Given the description of an element on the screen output the (x, y) to click on. 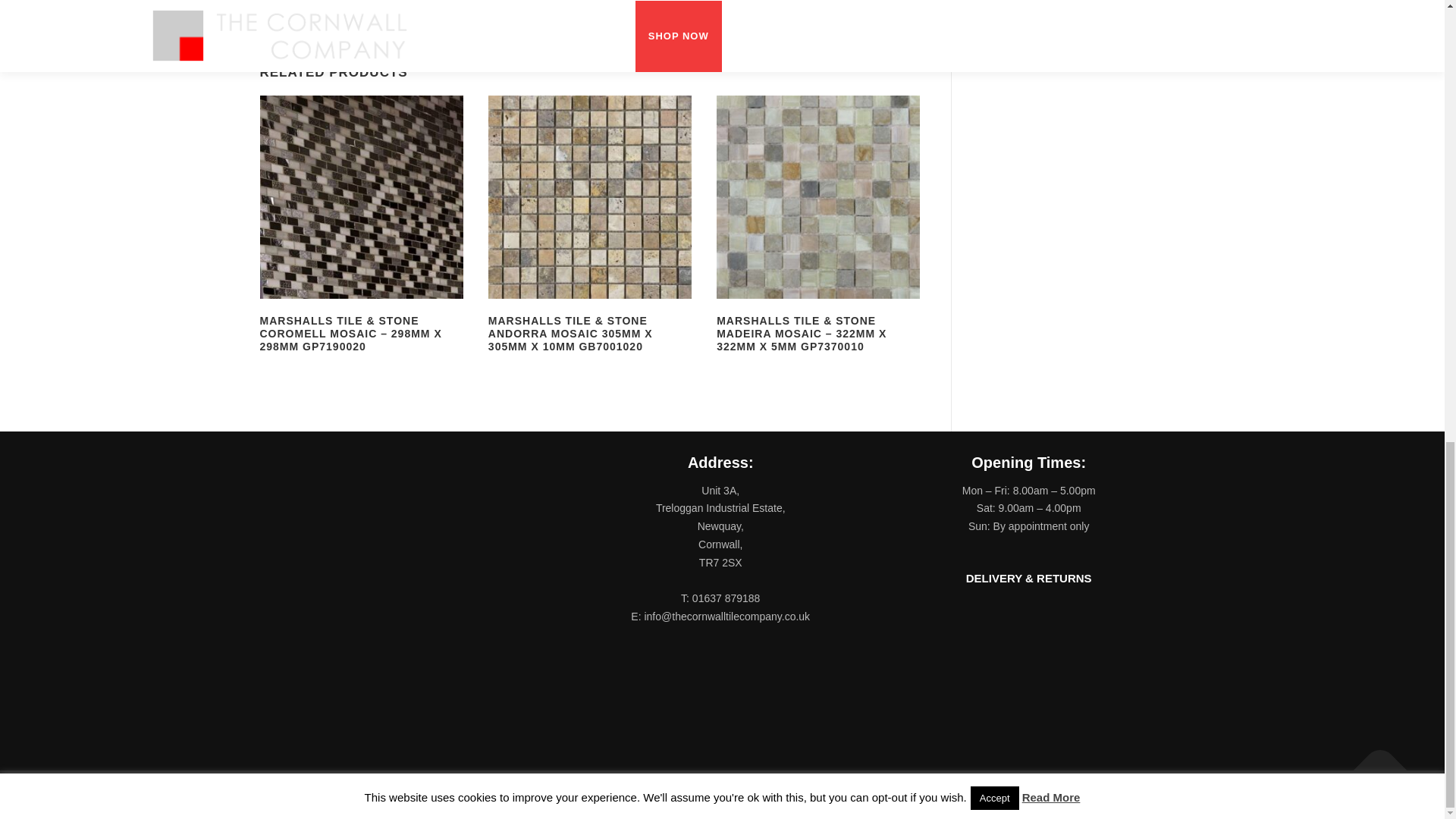
Mosaic Tiles (681, 33)
Back To Top (1372, 762)
